Given the description of an element on the screen output the (x, y) to click on. 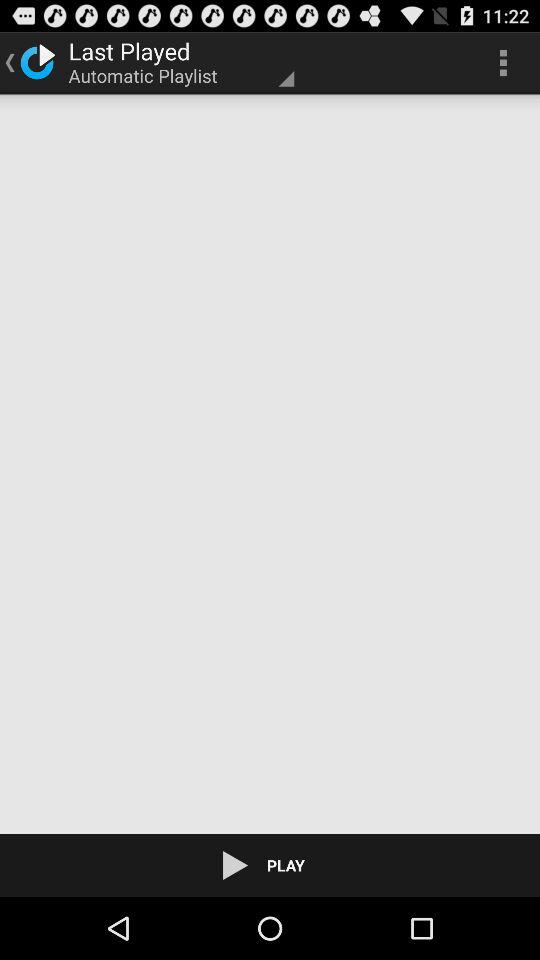
launch item at the top right corner (503, 62)
